Given the description of an element on the screen output the (x, y) to click on. 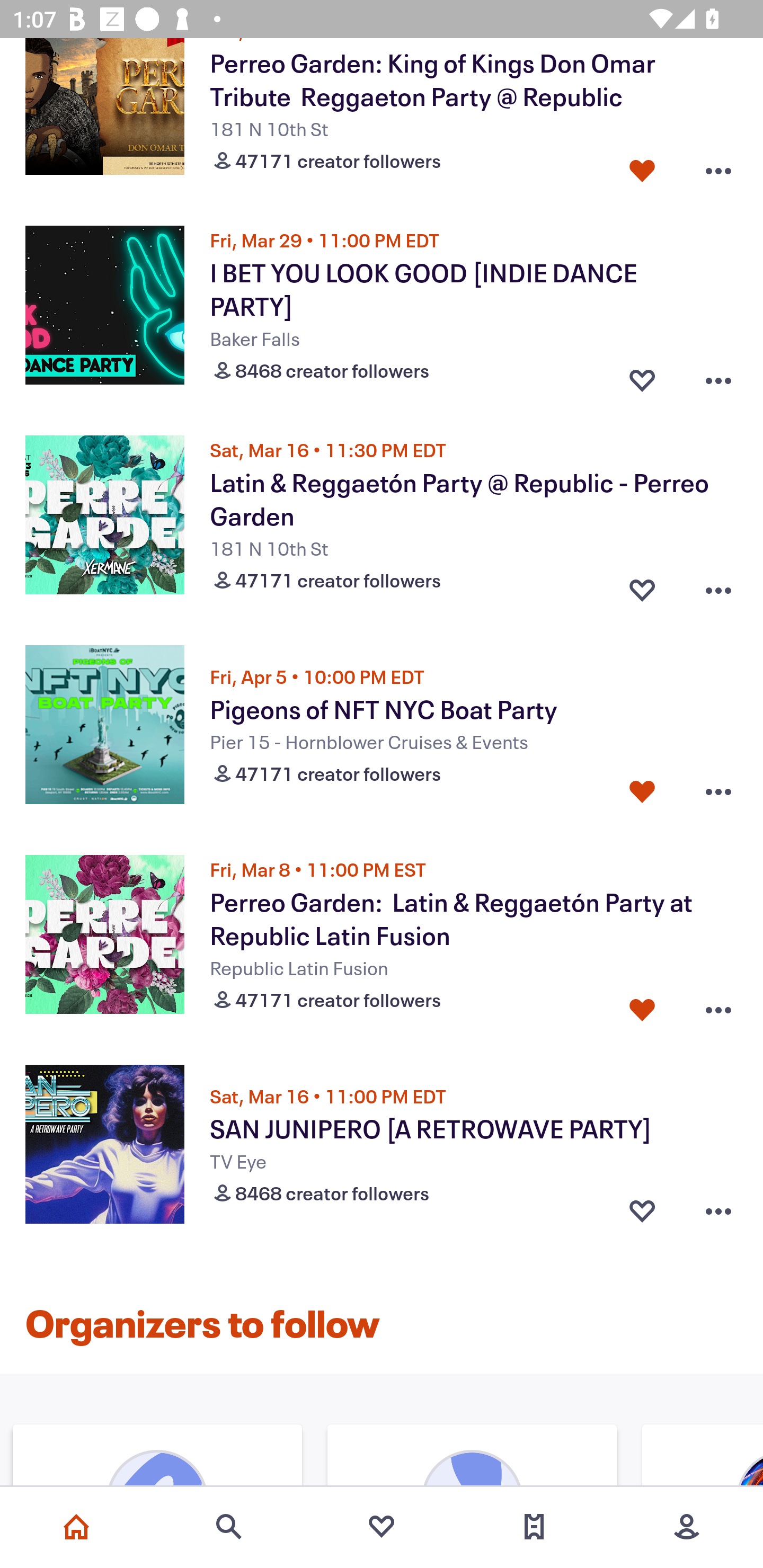
Favorite button (642, 166)
Overflow menu button (718, 166)
Favorite button (642, 376)
Overflow menu button (718, 376)
Favorite button (642, 585)
Overflow menu button (718, 585)
Favorite button (642, 791)
Overflow menu button (718, 791)
Favorite button (642, 1005)
Overflow menu button (718, 1005)
Favorite button (642, 1210)
Overflow menu button (718, 1210)
Home (76, 1526)
Search events (228, 1526)
Favorites (381, 1526)
Tickets (533, 1526)
More (686, 1526)
